Given the description of an element on the screen output the (x, y) to click on. 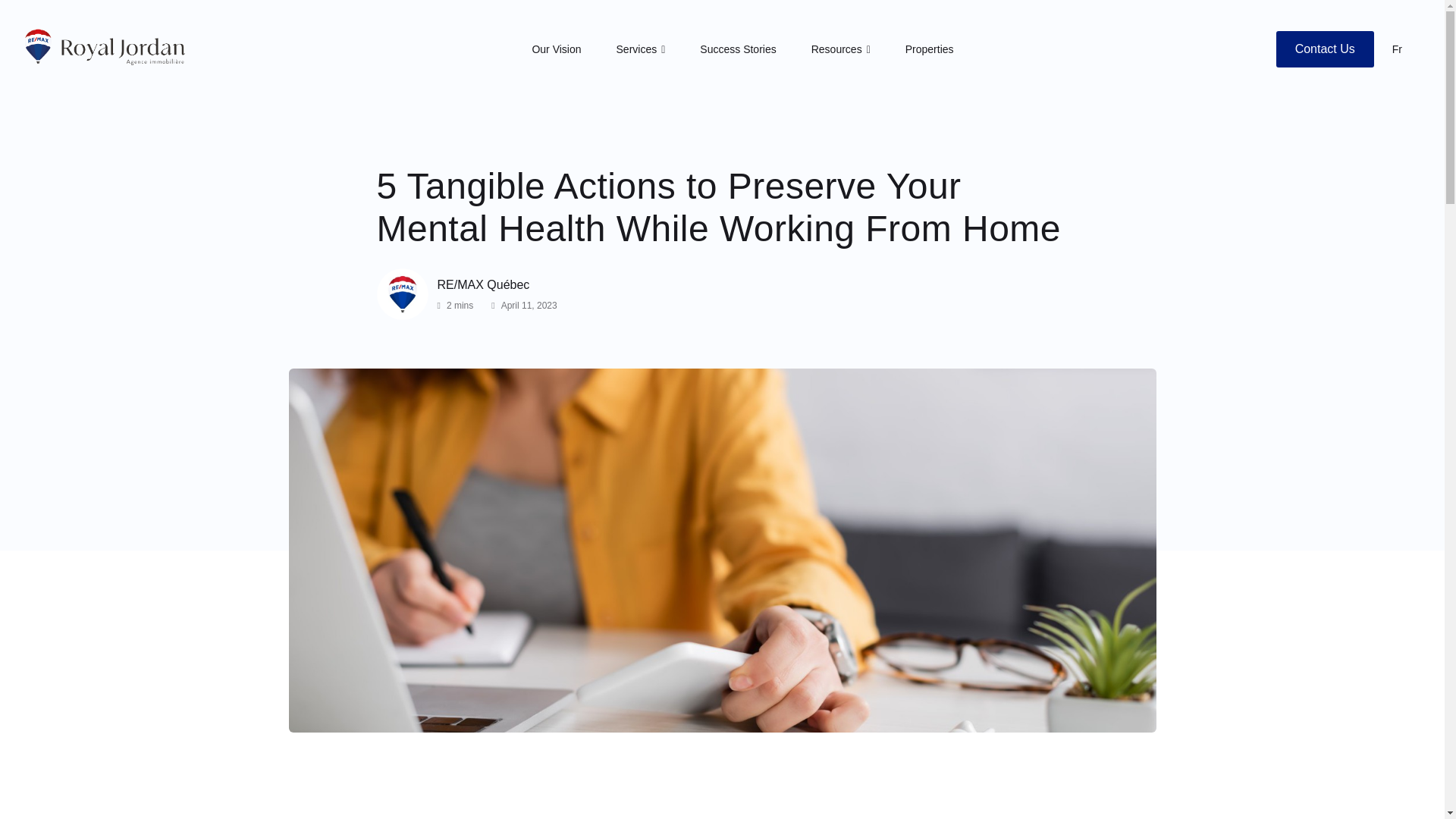
Success Stories (738, 49)
Properties (929, 49)
Fr (1396, 48)
Contact Us (1325, 49)
Our Vision (555, 49)
